Given the description of an element on the screen output the (x, y) to click on. 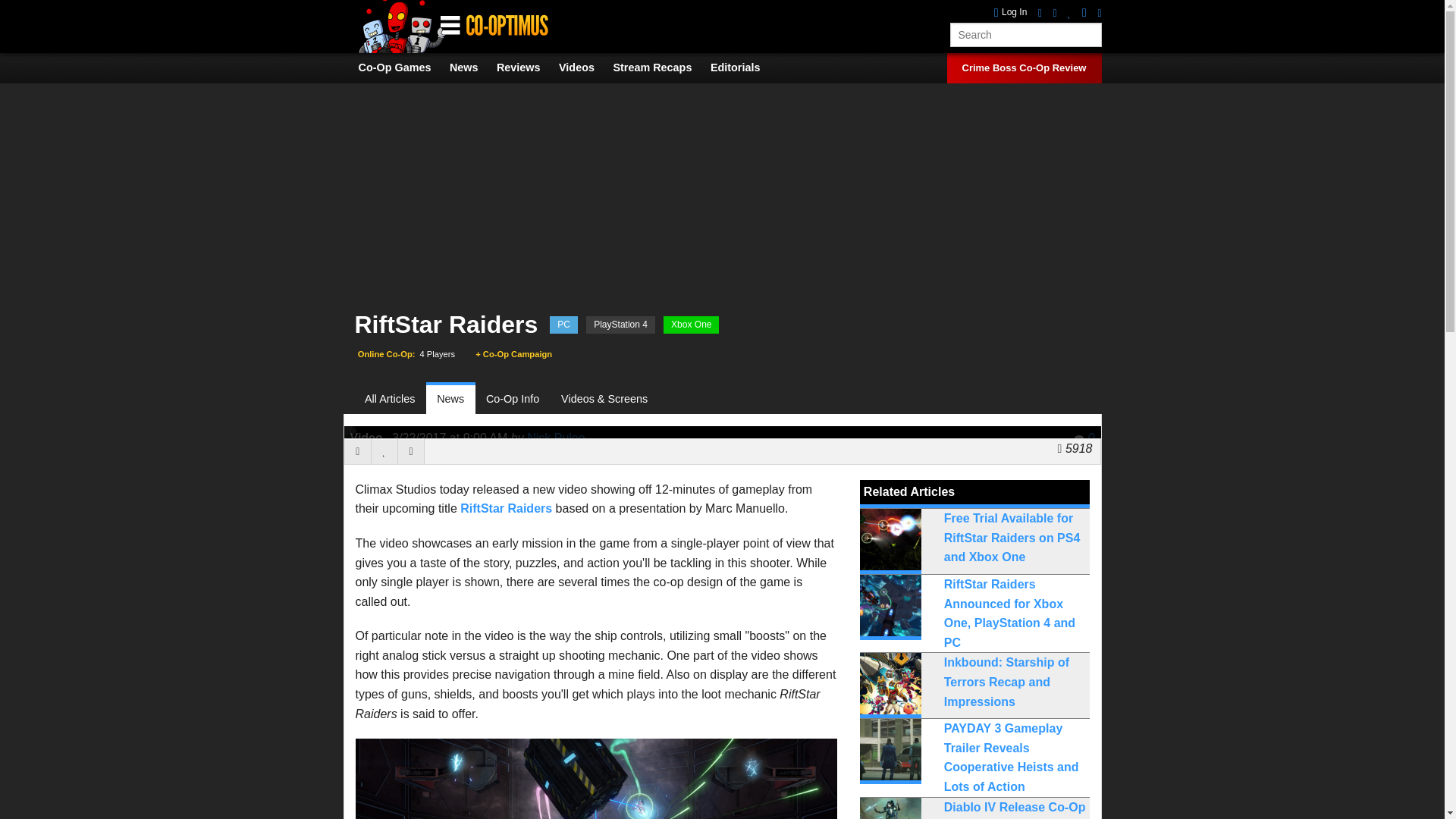
Xbox One (691, 324)
News (471, 67)
Co-Op Info (513, 398)
All Articles (395, 398)
PC (564, 324)
Co-Op Games (401, 67)
Videos (584, 67)
Reviews (526, 67)
Crime Boss Co-Op Review (1023, 67)
 Log In (1010, 11)
Stream Recaps (659, 67)
PlayStation 4 (620, 324)
Weekly Video Streams and VODs from Co-Optimus (659, 67)
Editorials (743, 67)
News (451, 398)
